Given the description of an element on the screen output the (x, y) to click on. 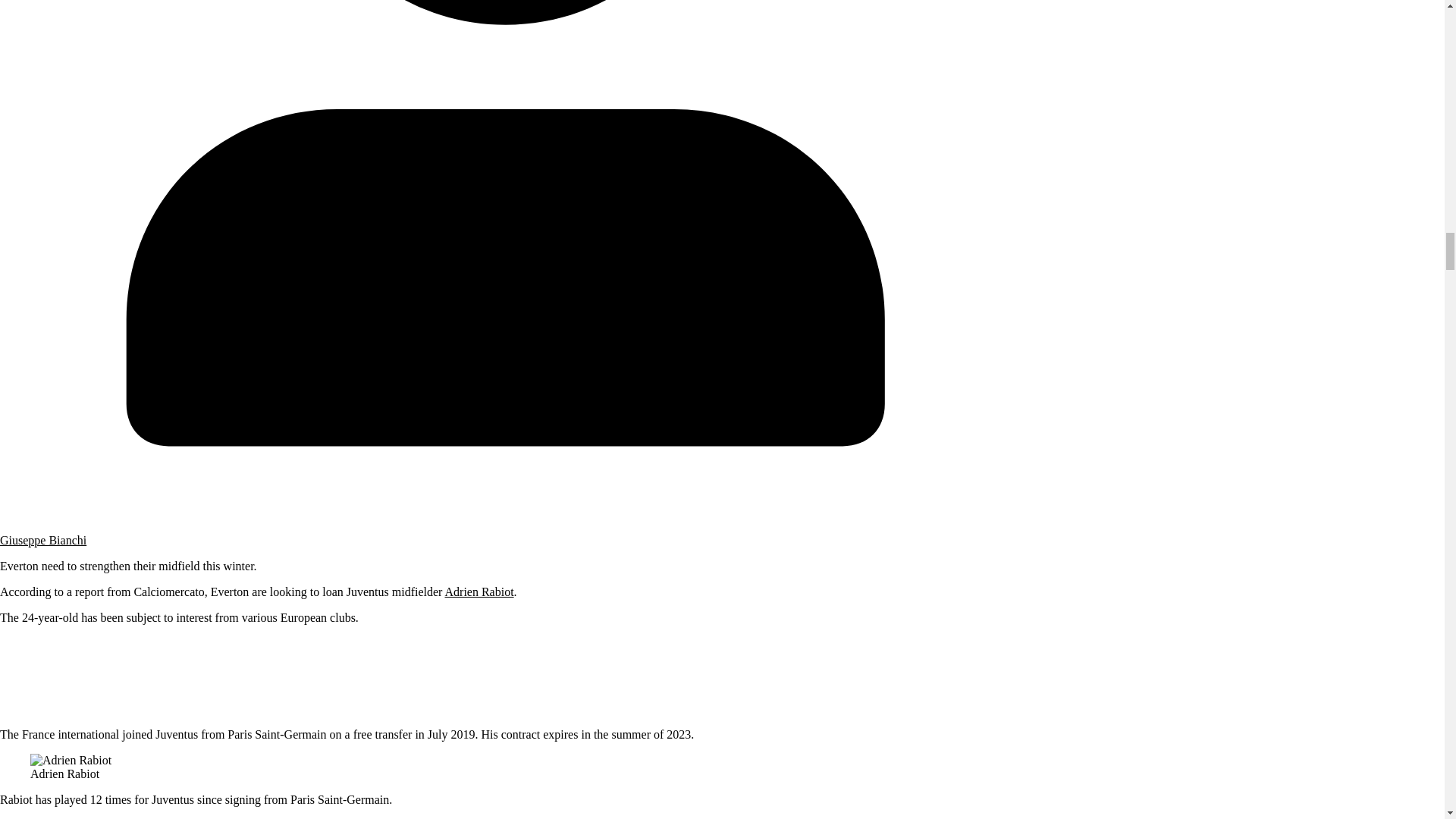
Giuseppe Bianchi (42, 540)
